Given the description of an element on the screen output the (x, y) to click on. 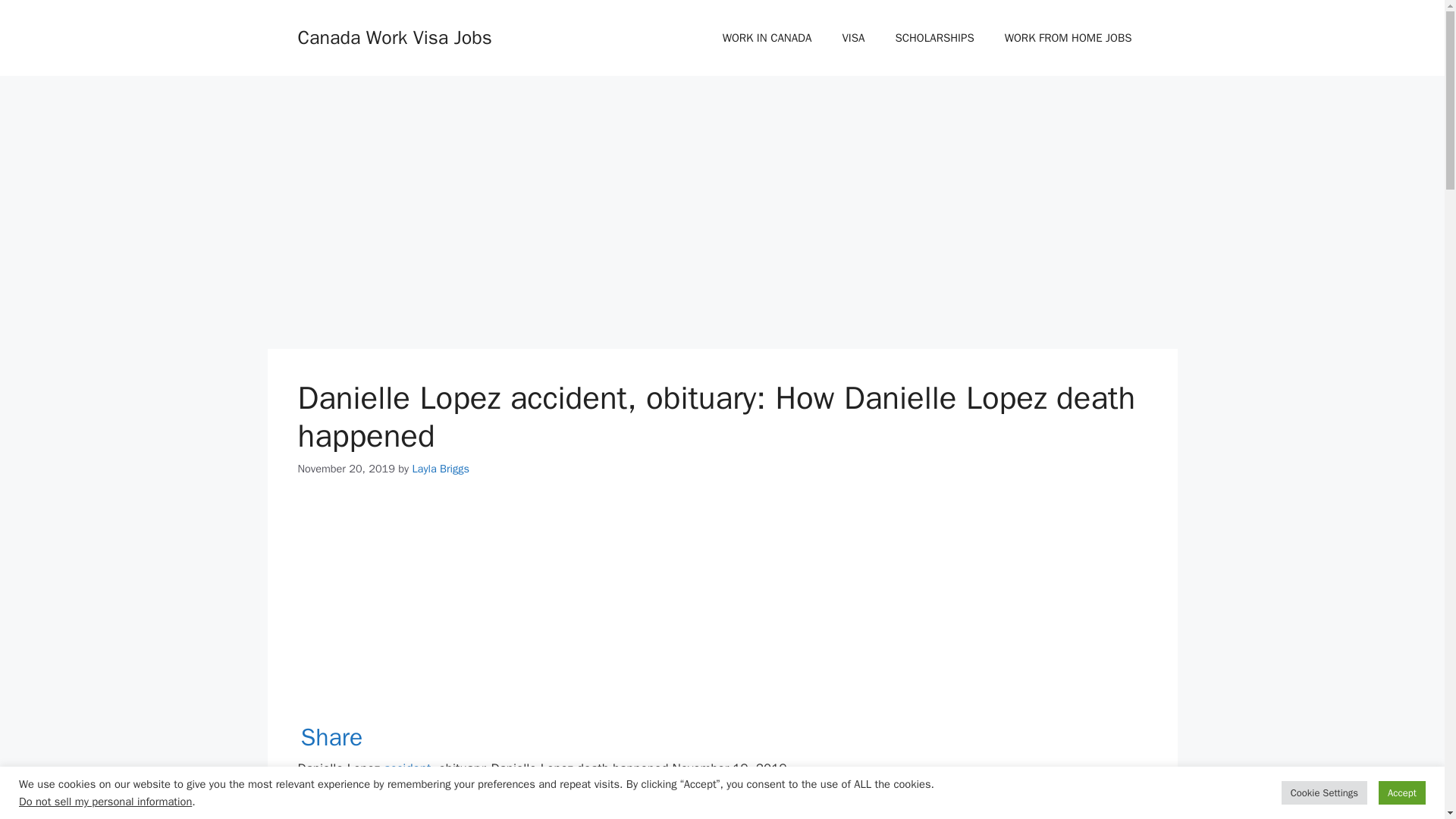
View all posts by Layla Briggs (440, 468)
Cookie Settings (1324, 792)
Share (331, 737)
WORK IN CANADA (767, 37)
Do not sell my personal information (105, 801)
accident (407, 768)
Layla Briggs (440, 468)
VISA (853, 37)
Canada Work Visa Jobs (394, 37)
WORK FROM HOME JOBS (1068, 37)
SCHOLARSHIPS (933, 37)
Accept (1401, 792)
